Given the description of an element on the screen output the (x, y) to click on. 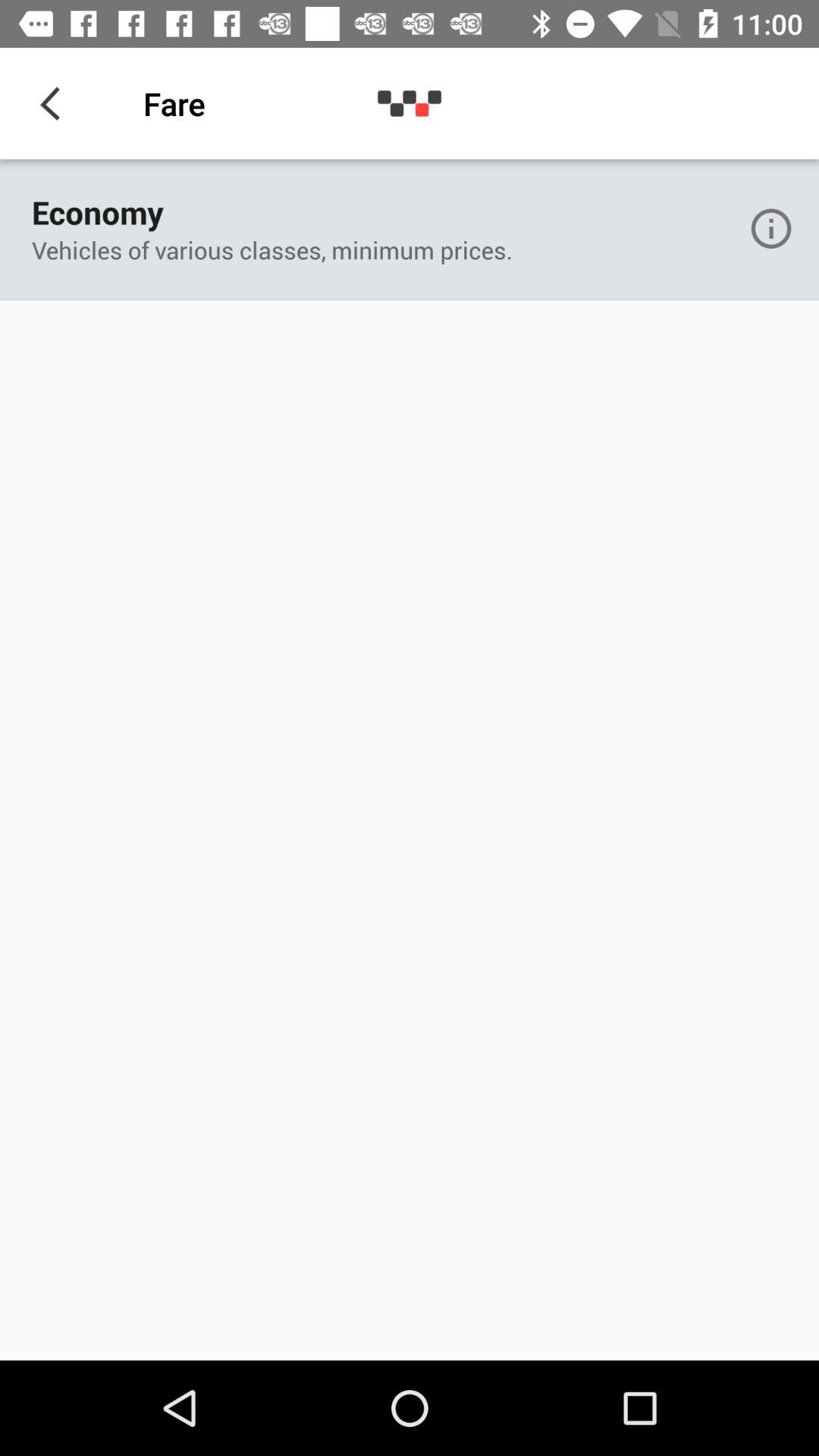
press the icon next to fare icon (55, 103)
